Given the description of an element on the screen output the (x, y) to click on. 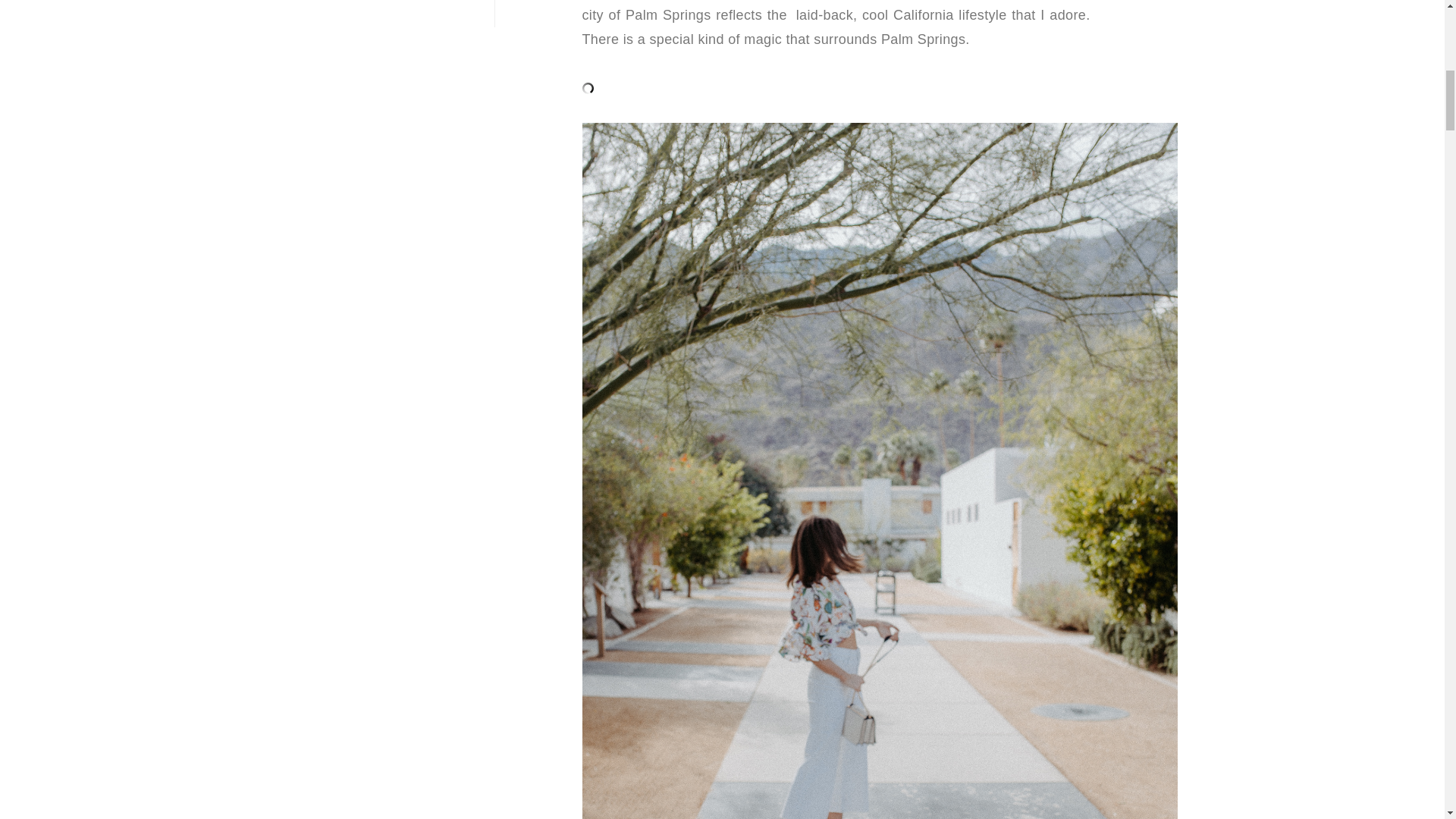
Share on Facebook (214, 32)
Share on Email (1331, 30)
Share on Pinterest (189, 32)
